Given the description of an element on the screen output the (x, y) to click on. 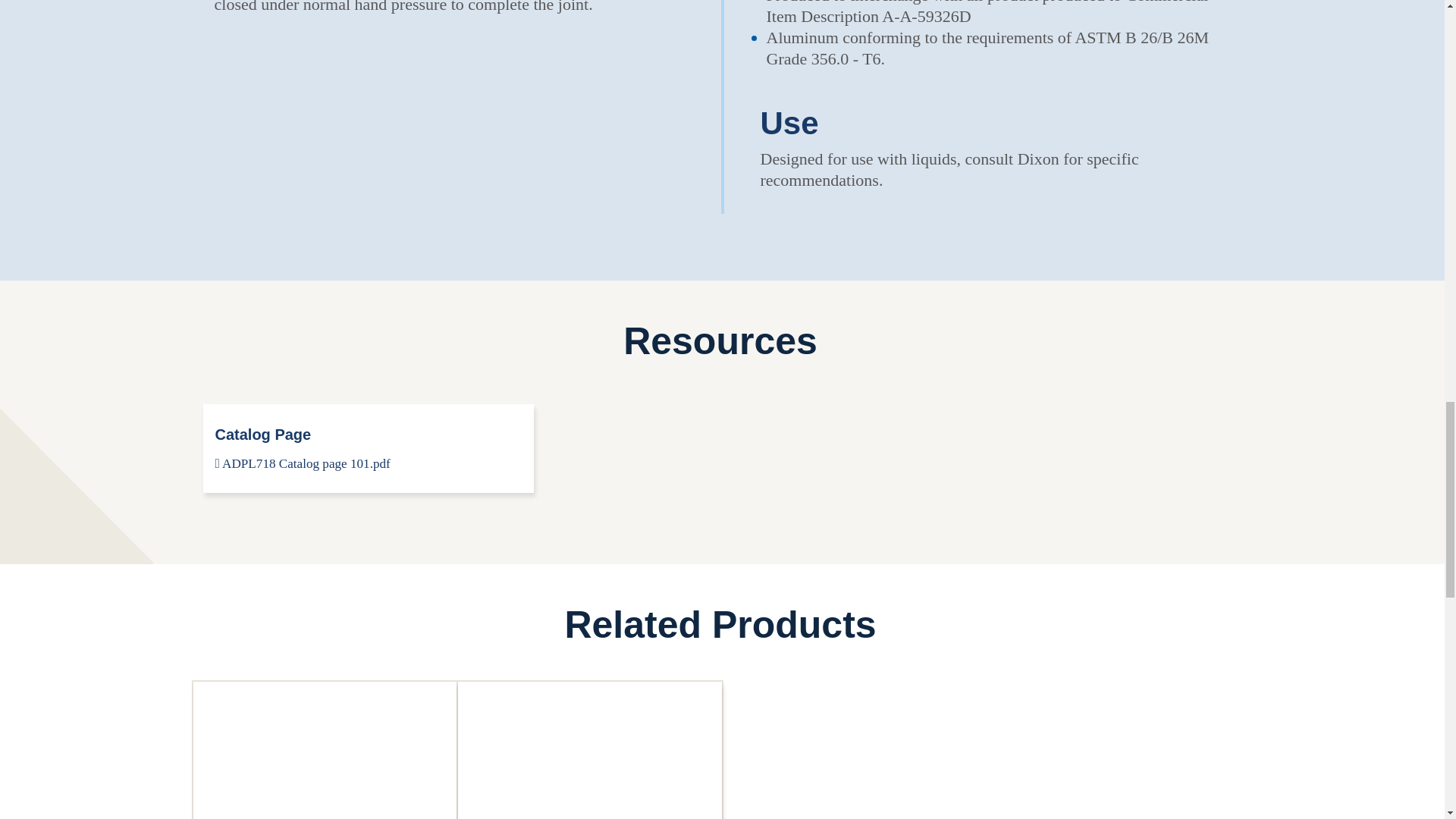
ADPL718 Catalog page  101.pdf (302, 463)
